Given the description of an element on the screen output the (x, y) to click on. 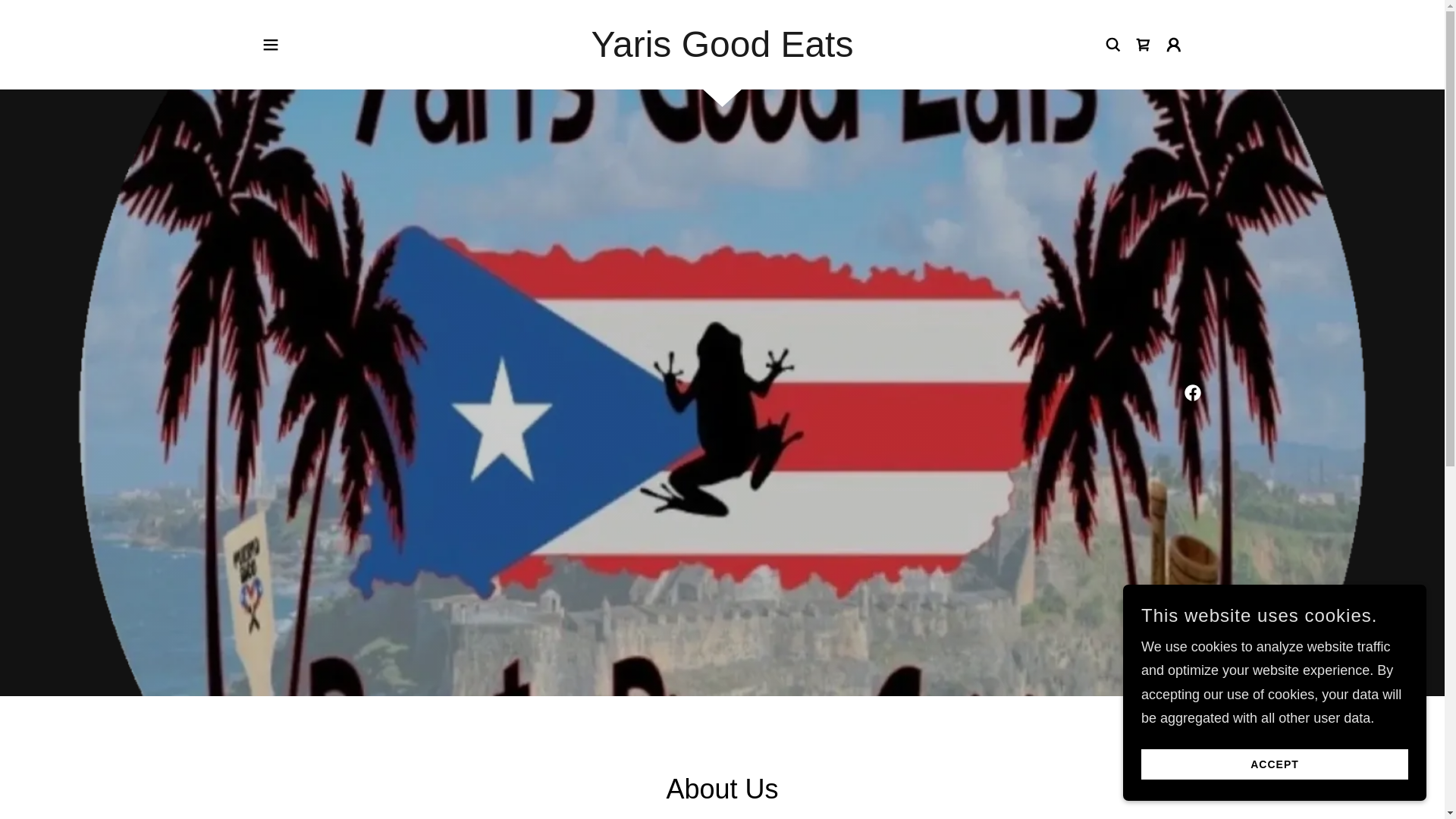
ACCEPT (1274, 764)
Yaris Good Eats (722, 52)
Yaris Good Eats (722, 52)
